Given the description of an element on the screen output the (x, y) to click on. 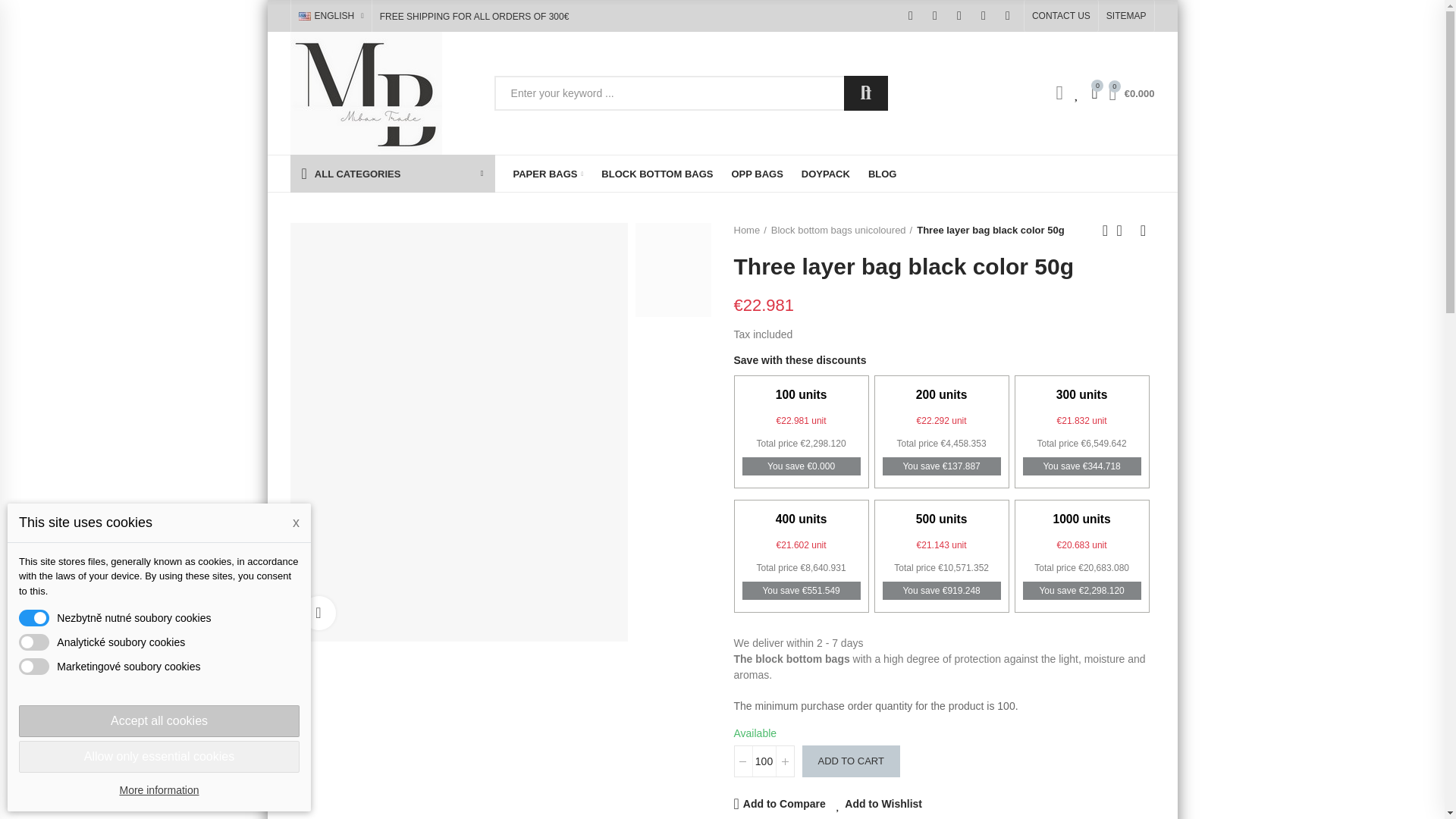
Mini Cart (1125, 93)
OPP BAGS (757, 172)
SITEMAP (1126, 15)
100 (763, 761)
Eshop with tea and coffee bags (365, 92)
Block bottom bags unicoloured (547, 173)
DOYPACK (825, 172)
BLOCK BOTTOM BAGS (657, 172)
Search (866, 93)
PAPER BAGS (547, 173)
